Given the description of an element on the screen output the (x, y) to click on. 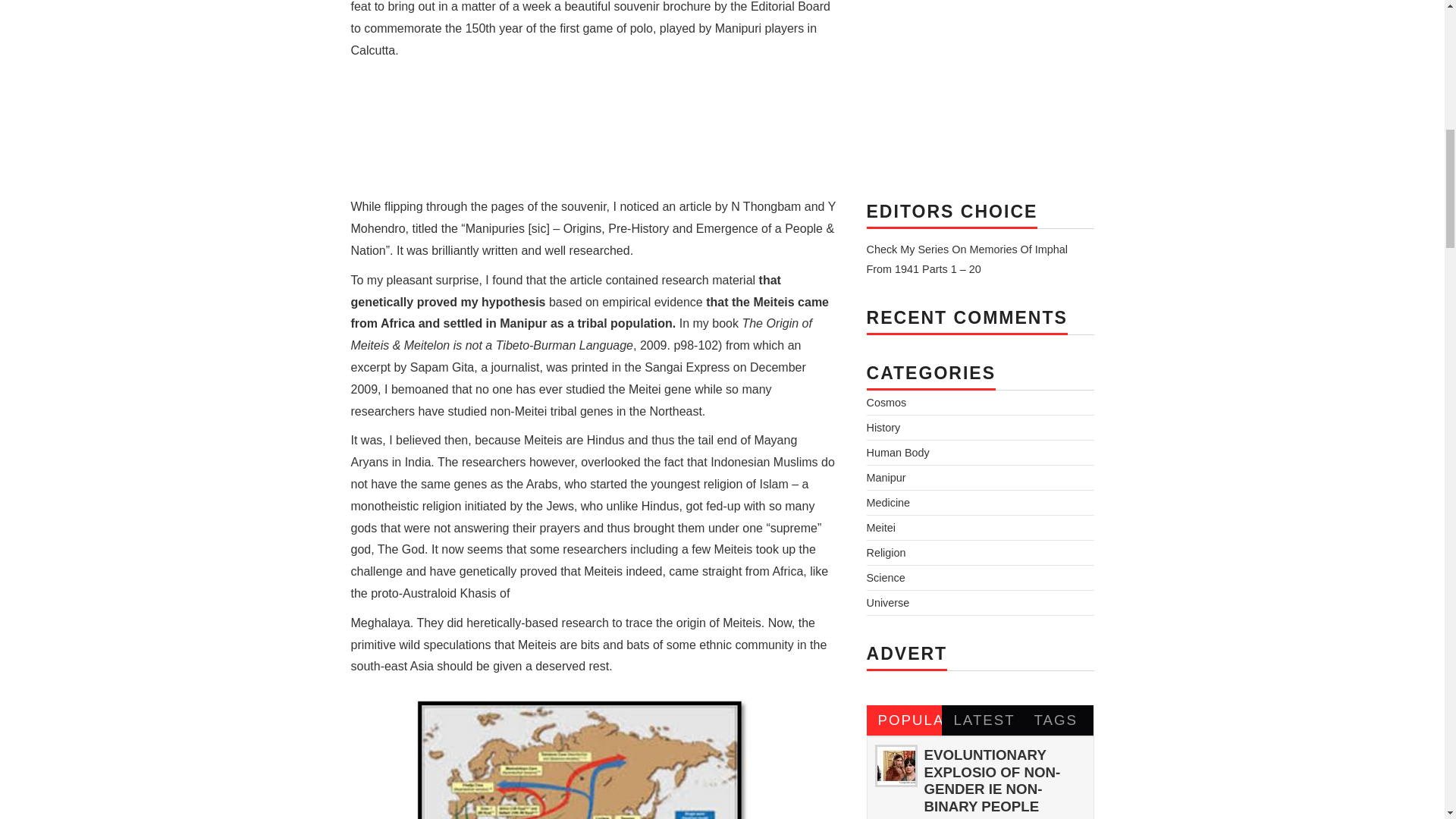
Meitei (880, 527)
Science (885, 577)
Religion (885, 552)
Evoluntionary Explosio Of Non-Gender ie Non-Binary People (895, 765)
Manipur (885, 477)
Cosmos (885, 402)
Evoluntionary Explosio Of Non-Gender ie Non-Binary People (991, 780)
Advertisement (979, 86)
Advertisement (592, 129)
LATEST (979, 720)
Universe (887, 603)
TAGS (1055, 720)
Medicine (888, 502)
POPULAR (904, 720)
History (882, 427)
